Given the description of an element on the screen output the (x, y) to click on. 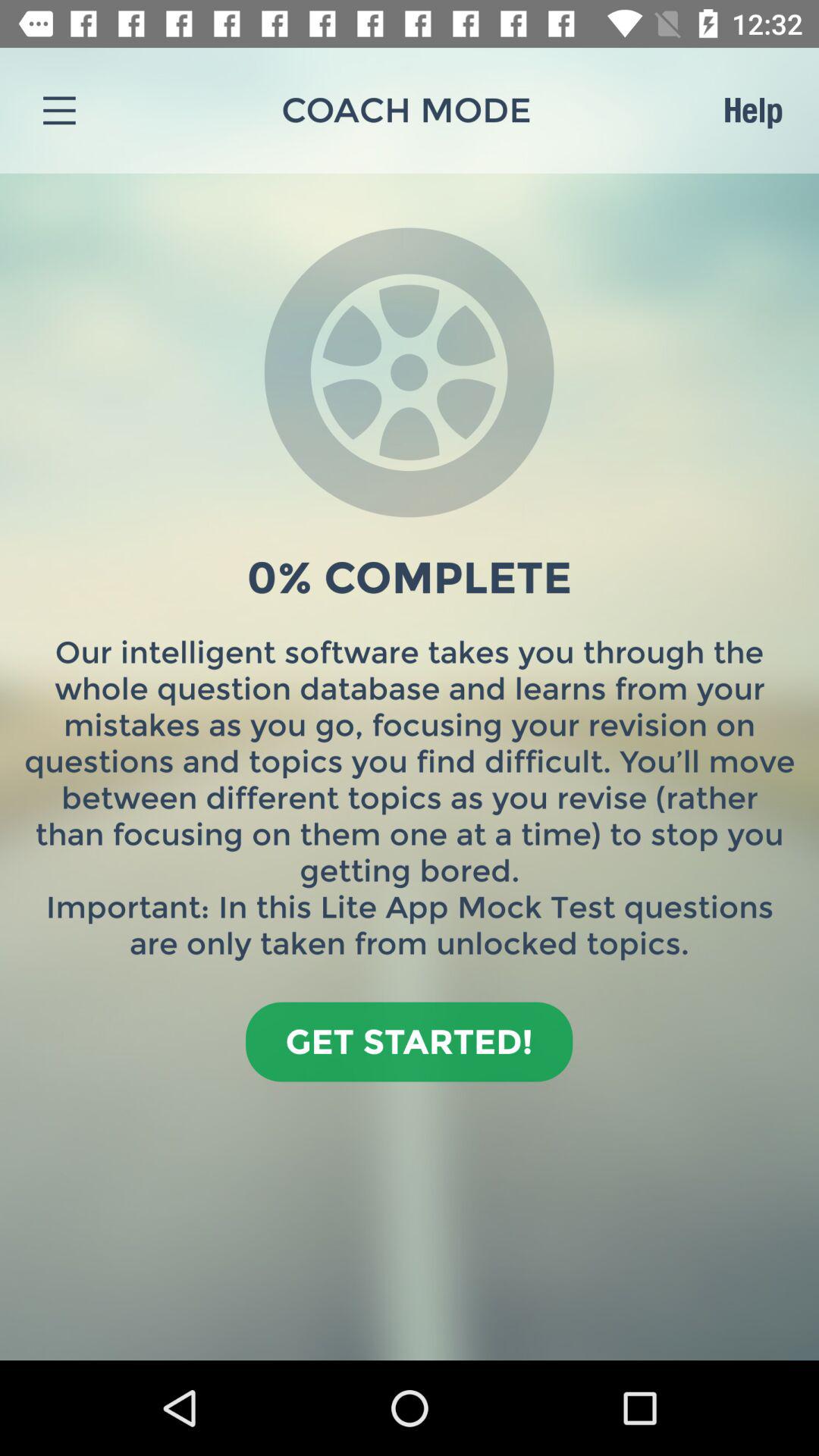
tap the icon next to coach mode icon (752, 110)
